Given the description of an element on the screen output the (x, y) to click on. 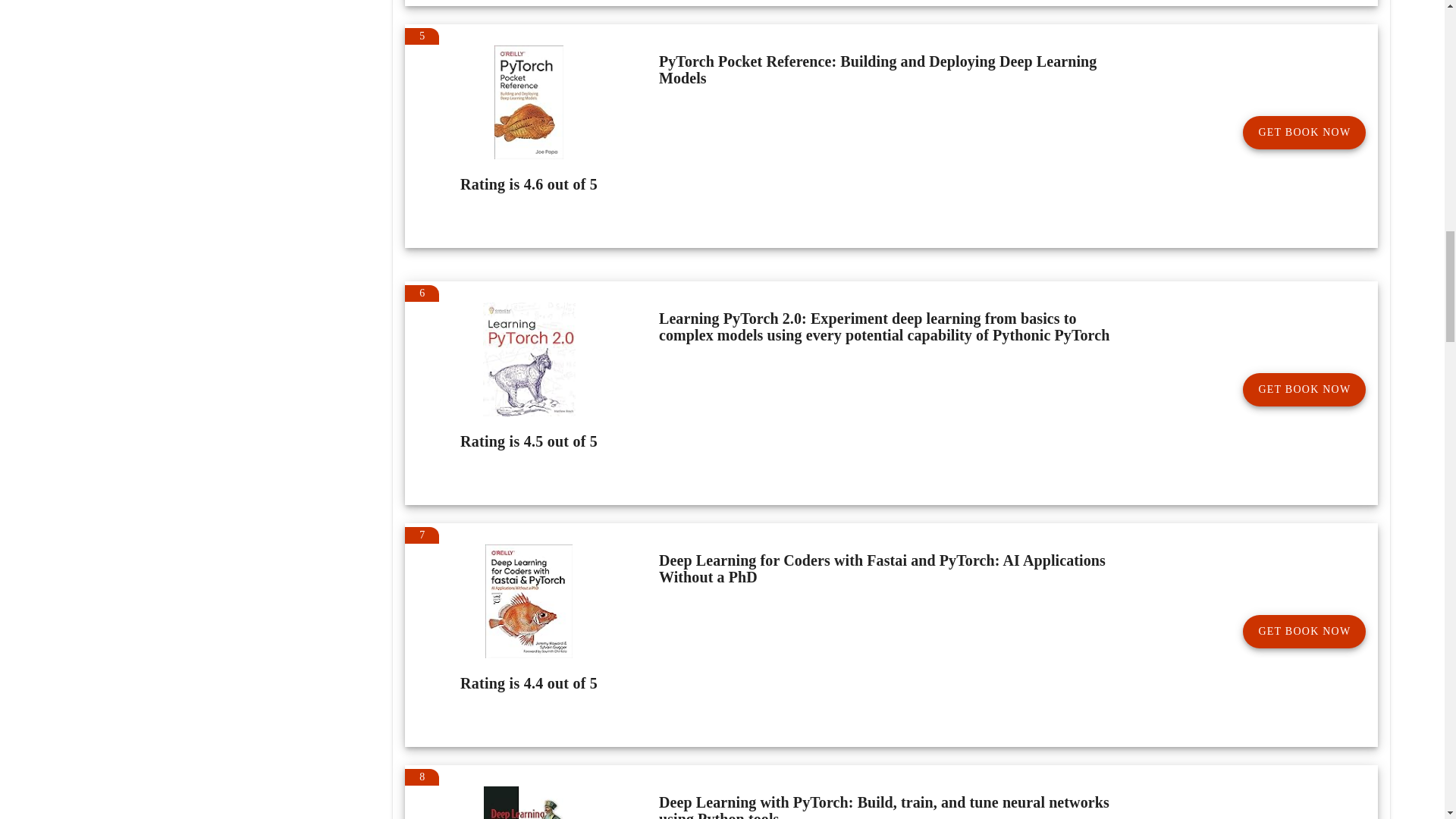
GET BOOK NOW (1304, 132)
GET BOOK NOW (1304, 631)
GET BOOK NOW (1304, 389)
